Given the description of an element on the screen output the (x, y) to click on. 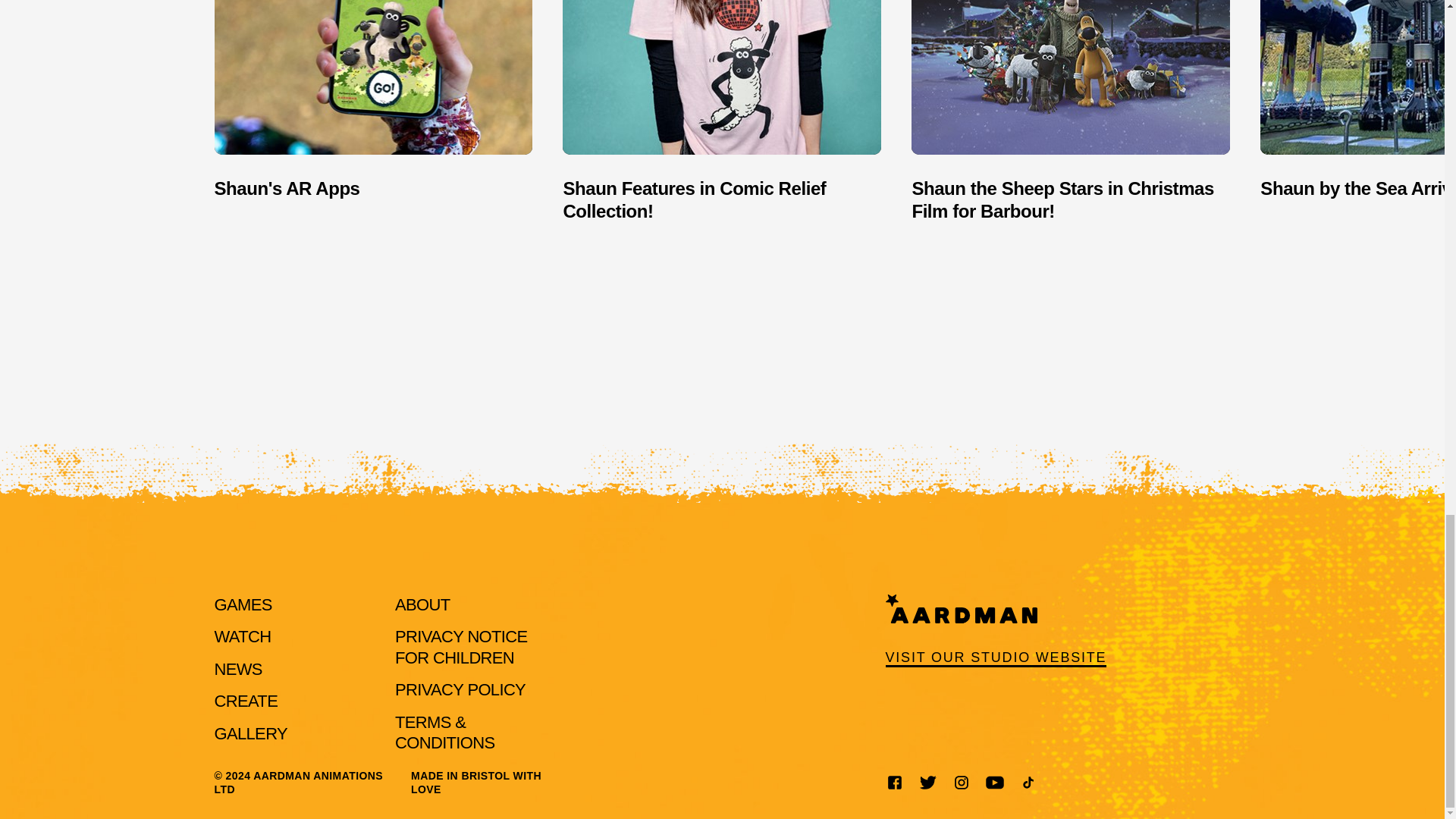
Shaun the Sheep Stars in Christmas Film for Barbour! (1070, 111)
WATCH (242, 636)
Shaun Features in Comic Relief Collection! (721, 111)
VISIT OUR STUDIO WEBSITE (995, 631)
CREATE (246, 700)
GALLERY (250, 732)
NEWS (238, 669)
ABOUT (421, 604)
PRIVACY NOTICE FOR CHILDREN (460, 647)
PRIVACY POLICY (459, 689)
Shaun's AR Apps (373, 111)
GAMES (243, 604)
